Given the description of an element on the screen output the (x, y) to click on. 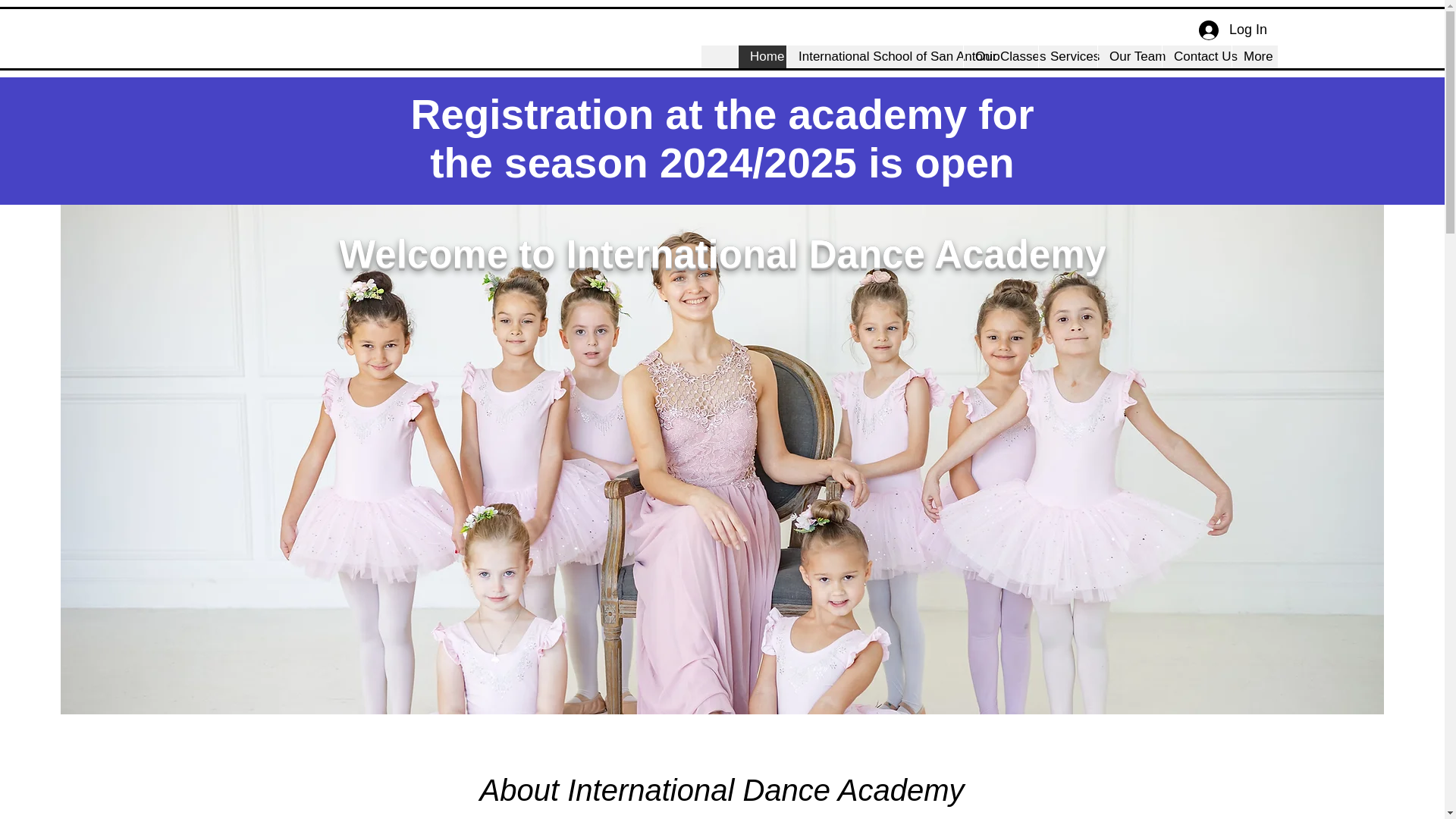
Log In (1233, 29)
Services (1067, 56)
Our Team (1129, 56)
Our Classes (1000, 56)
Home (762, 56)
Contact Us (1196, 56)
International School of San Antonio (874, 56)
